Given the description of an element on the screen output the (x, y) to click on. 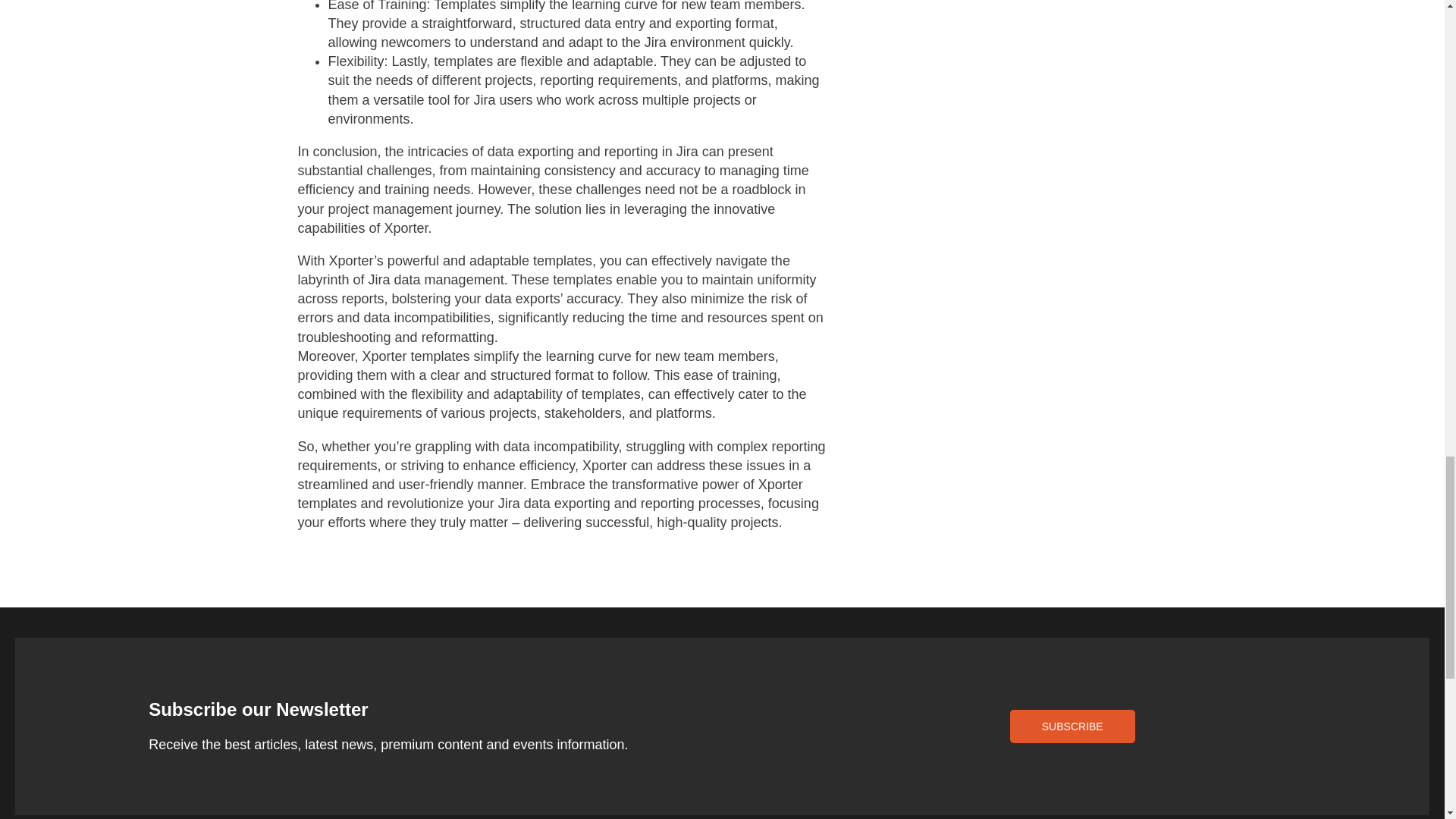
SUBSCRIBE (1072, 726)
